Given the description of an element on the screen output the (x, y) to click on. 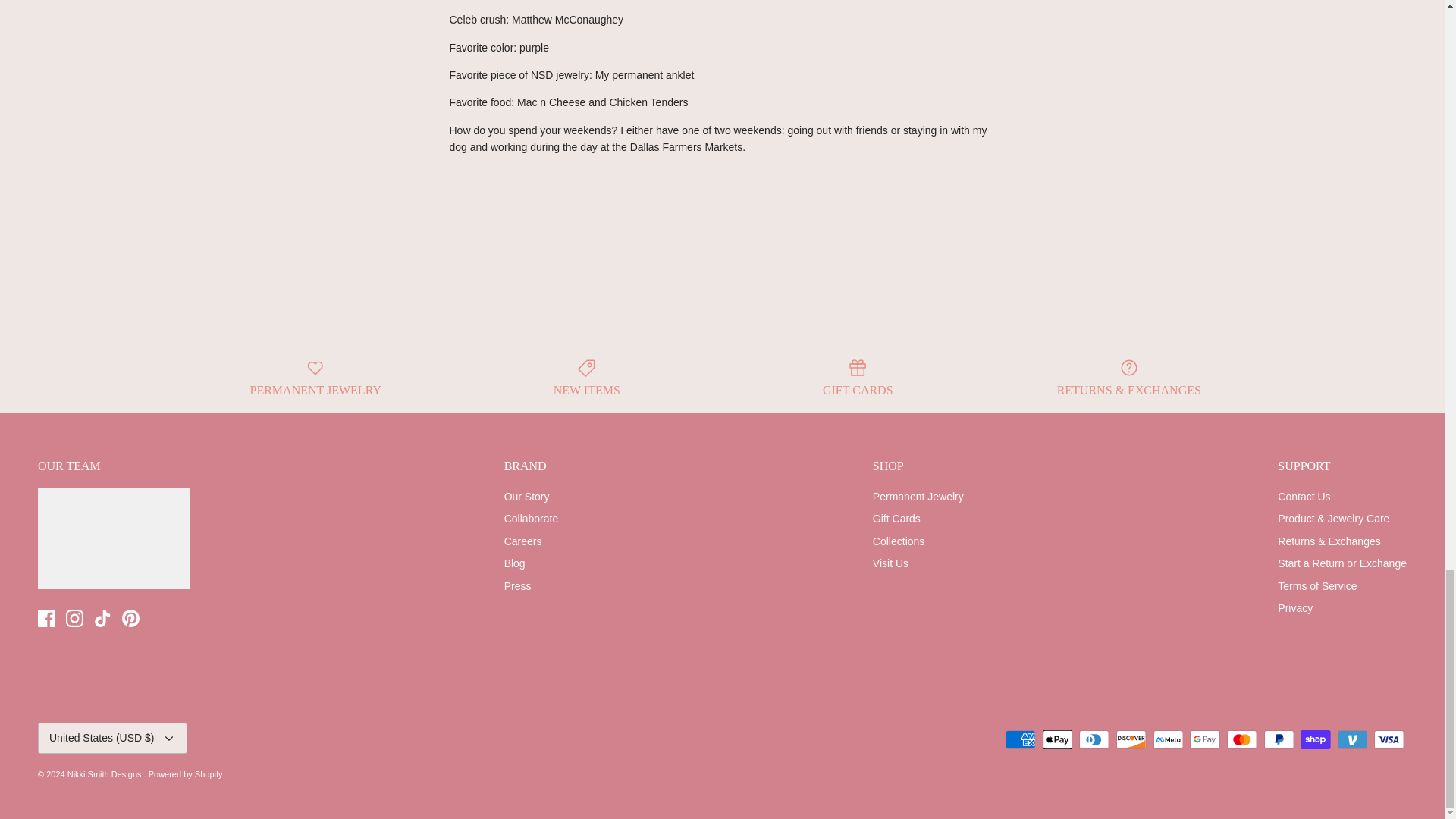
Instagram (73, 618)
Apple Pay (1057, 739)
Facebook (46, 618)
Discover (1130, 739)
Diners Club (1093, 739)
Pinterest (130, 618)
American Express (1020, 739)
